Given the description of an element on the screen output the (x, y) to click on. 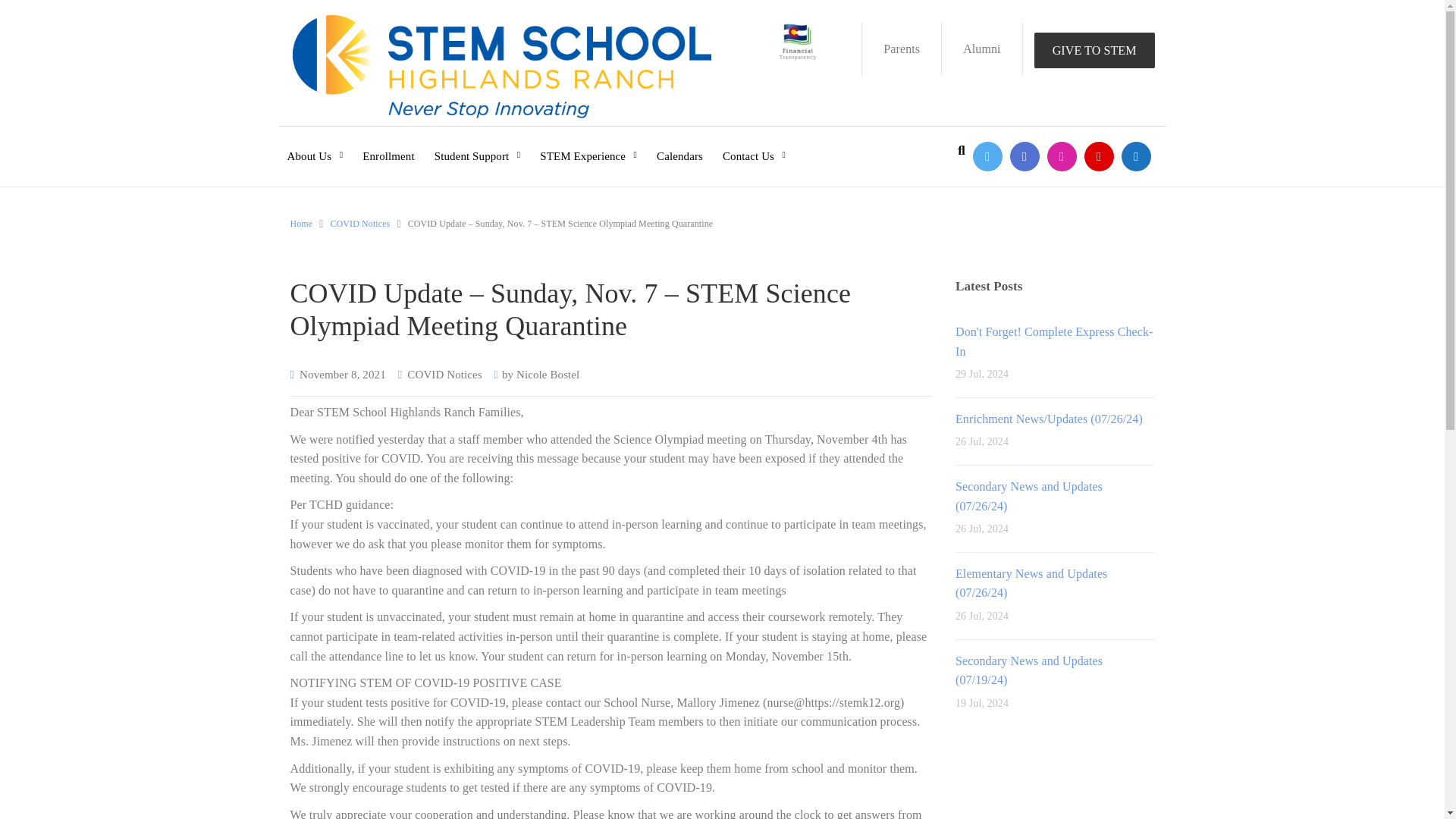
GIVE TO STEM (1093, 49)
STEMSchoolHR (987, 156)
STEMSchoolHighlandsRanch (1024, 156)
Don't Forget! Complete Express Check-In (1054, 341)
Financial Transparency icon (797, 41)
View all posts by Nicole Bostel (547, 374)
